Given the description of an element on the screen output the (x, y) to click on. 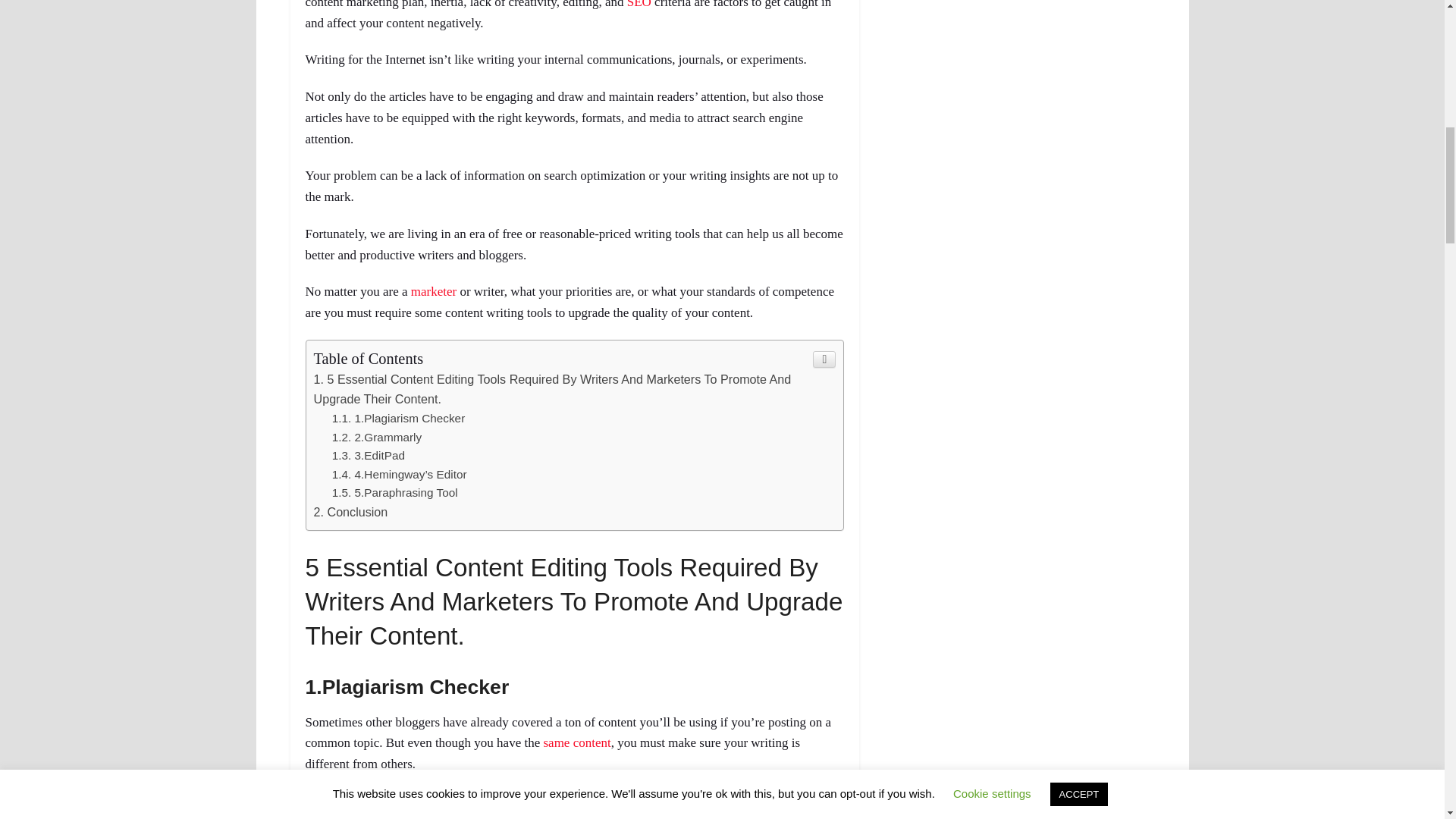
2.Grammarly (376, 436)
1.Plagiarism Checker  (398, 418)
3.EditPad  (367, 454)
Conclusion (351, 511)
5.Paraphrasing Tool (394, 492)
